Given the description of an element on the screen output the (x, y) to click on. 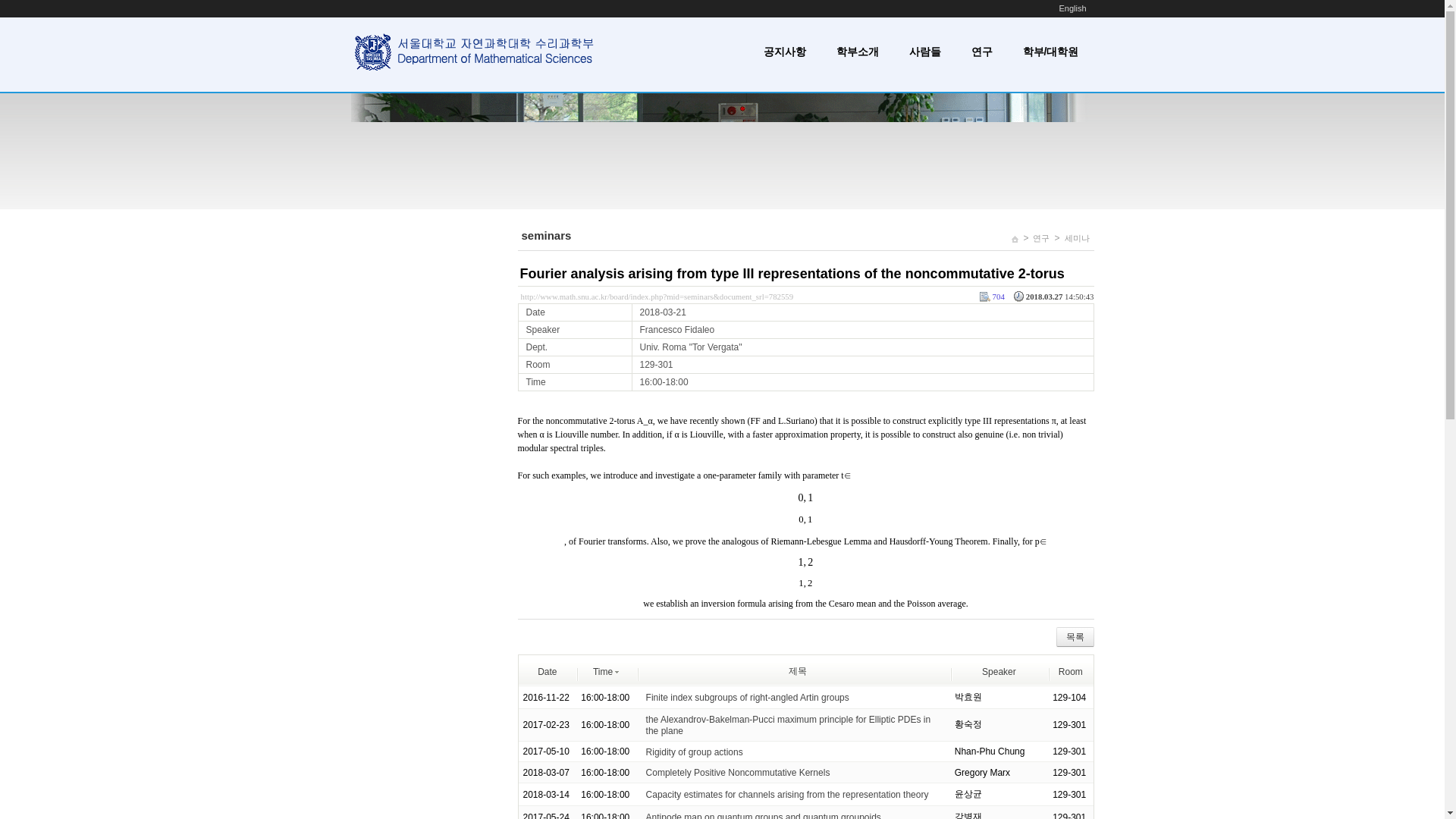
Completely Positive Noncommutative Kernels (737, 772)
Rigidity of group actions (694, 751)
Time (606, 670)
Finite index subgroups of right-angled Artin groups (747, 697)
Date (546, 670)
Speaker (998, 670)
Room (1070, 670)
English (1072, 8)
